Given the description of an element on the screen output the (x, y) to click on. 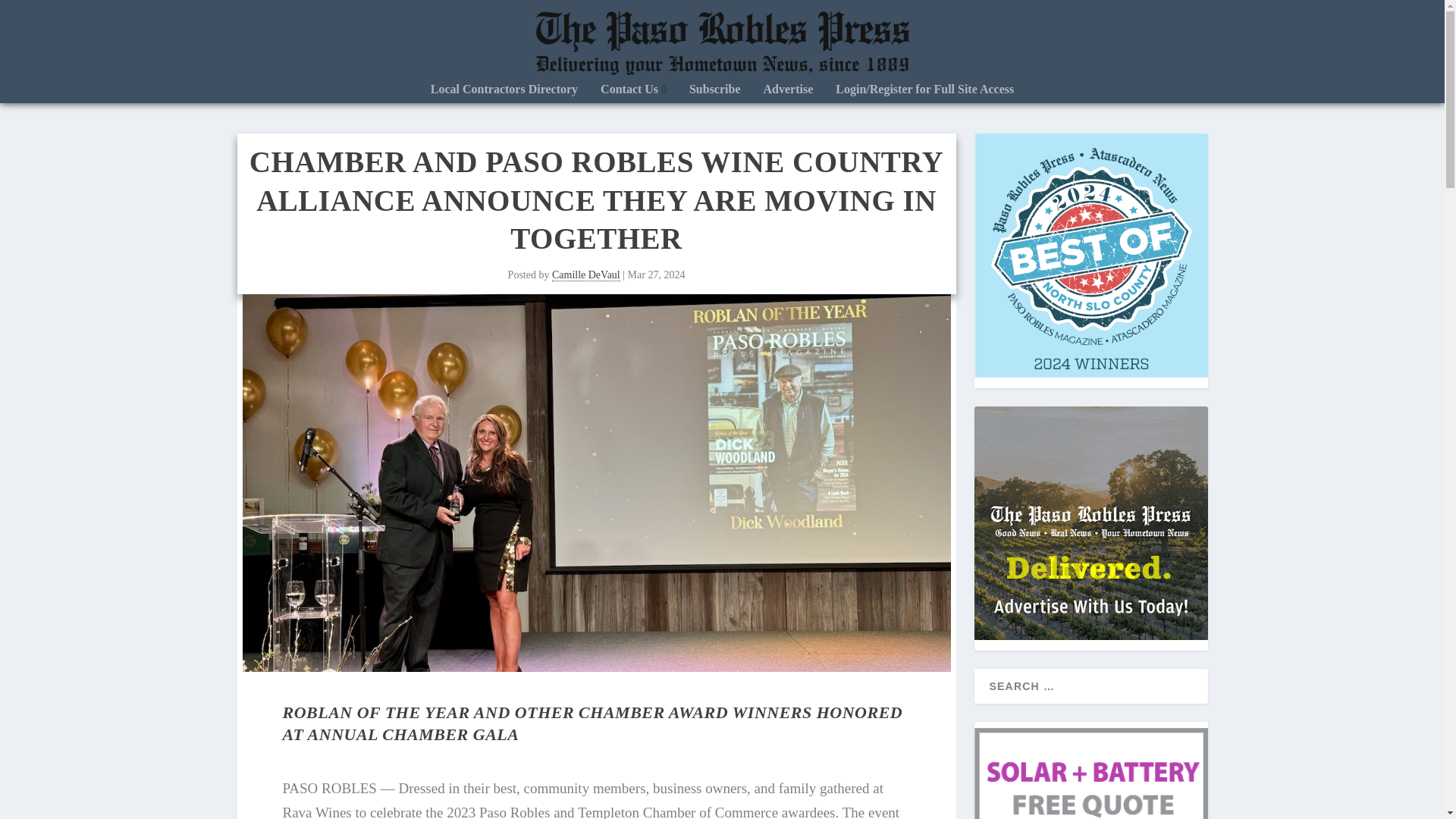
Subscribe (714, 93)
Posts by Camille DeVaul (585, 275)
Camille DeVaul (585, 275)
Advertise (787, 93)
Contact Us (632, 93)
Local Contractors Directory (504, 93)
